Given the description of an element on the screen output the (x, y) to click on. 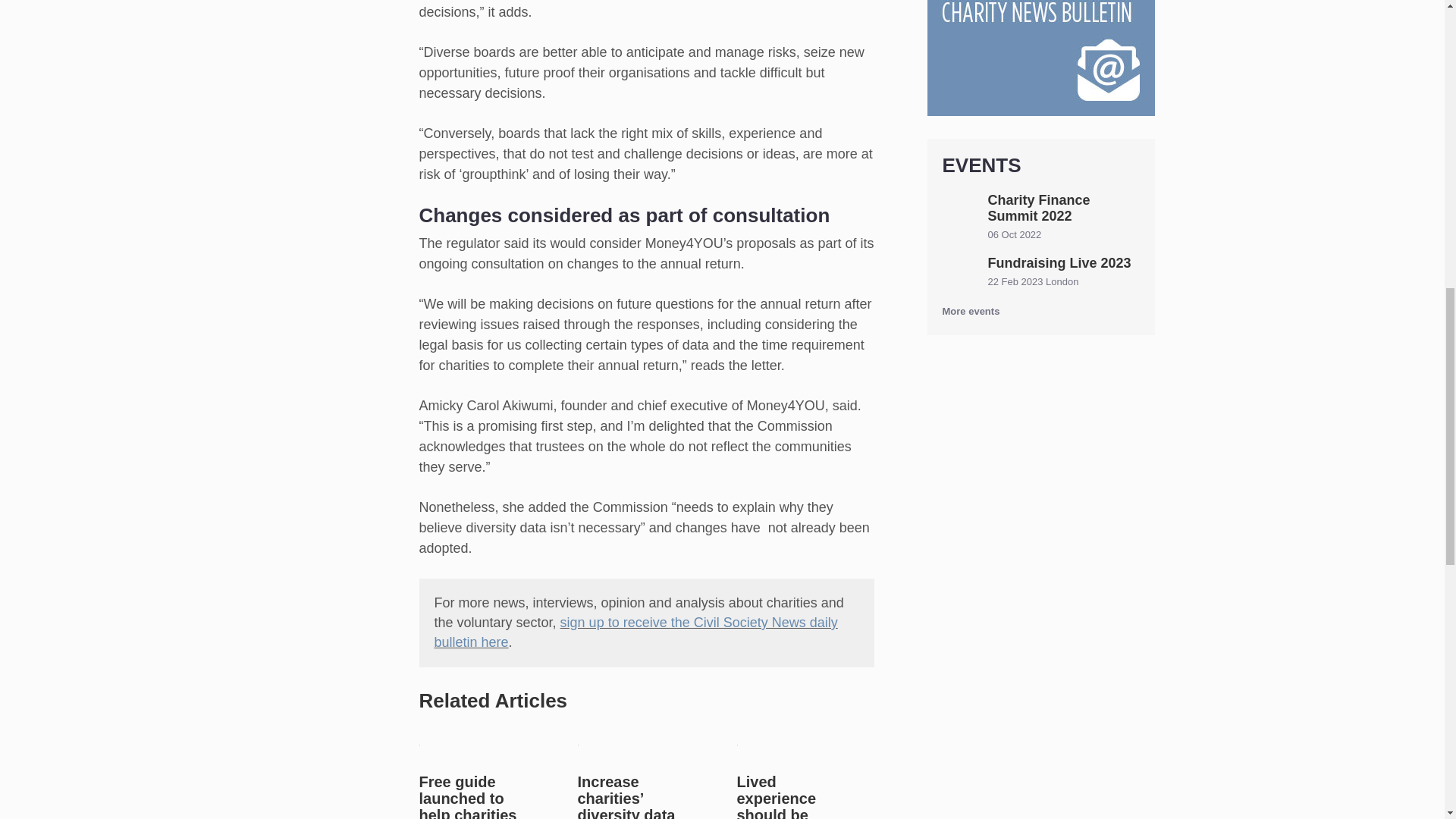
Free guide launched to help charities recruit young trustees (467, 796)
